Given the description of an element on the screen output the (x, y) to click on. 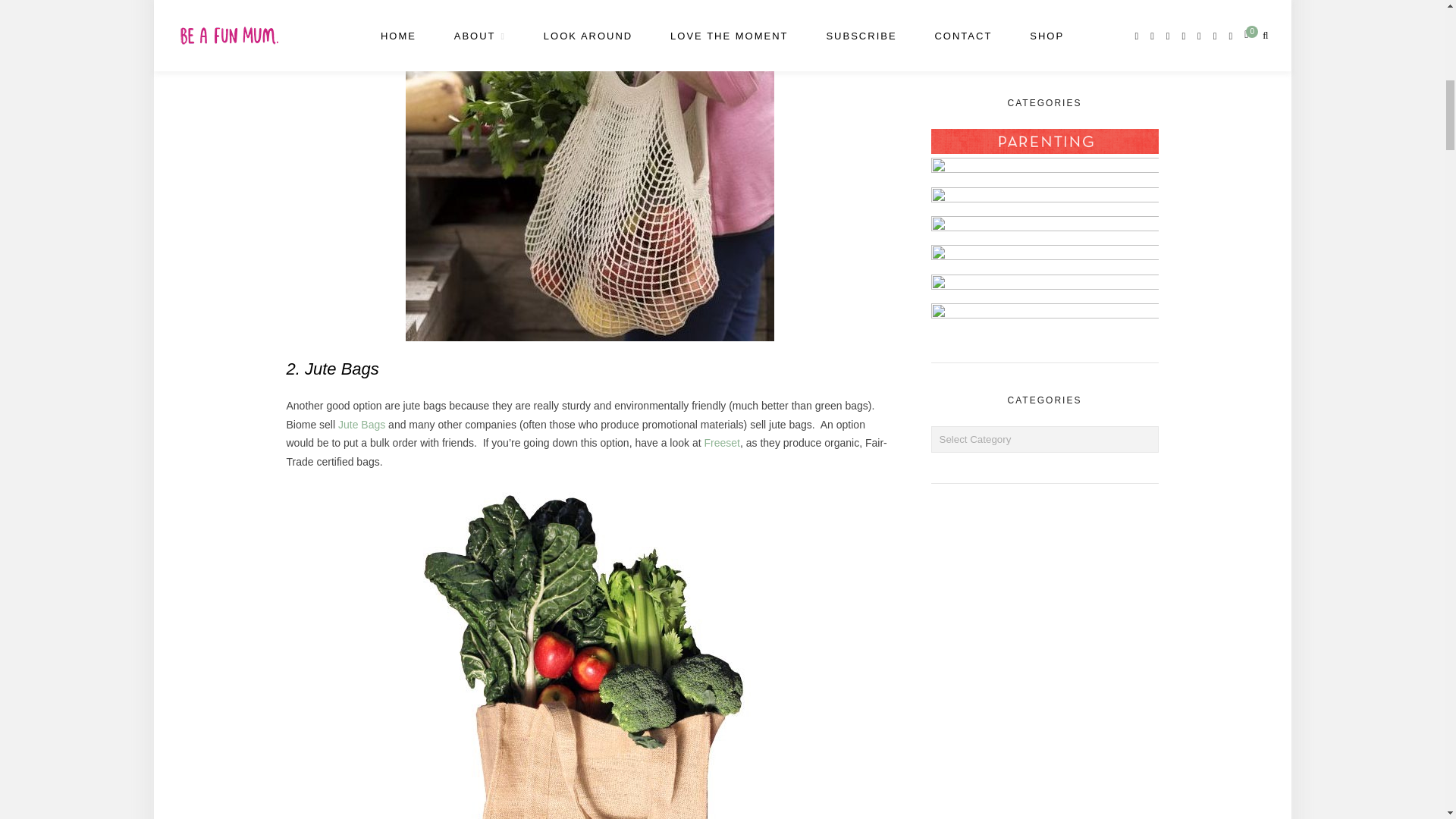
Freeset (721, 442)
Jute Bags (361, 424)
